Given the description of an element on the screen output the (x, y) to click on. 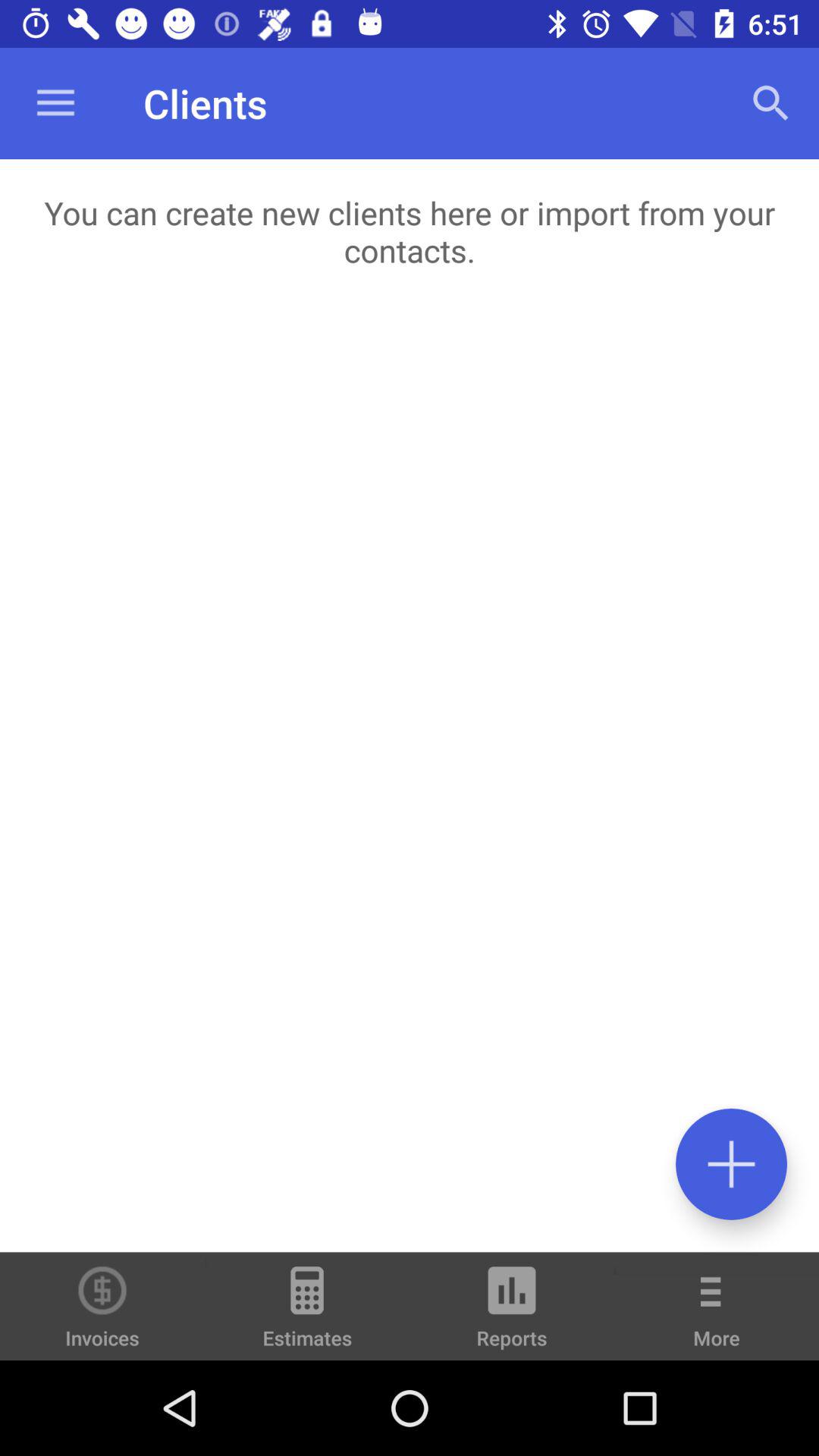
press item next to the reports item (716, 1317)
